Given the description of an element on the screen output the (x, y) to click on. 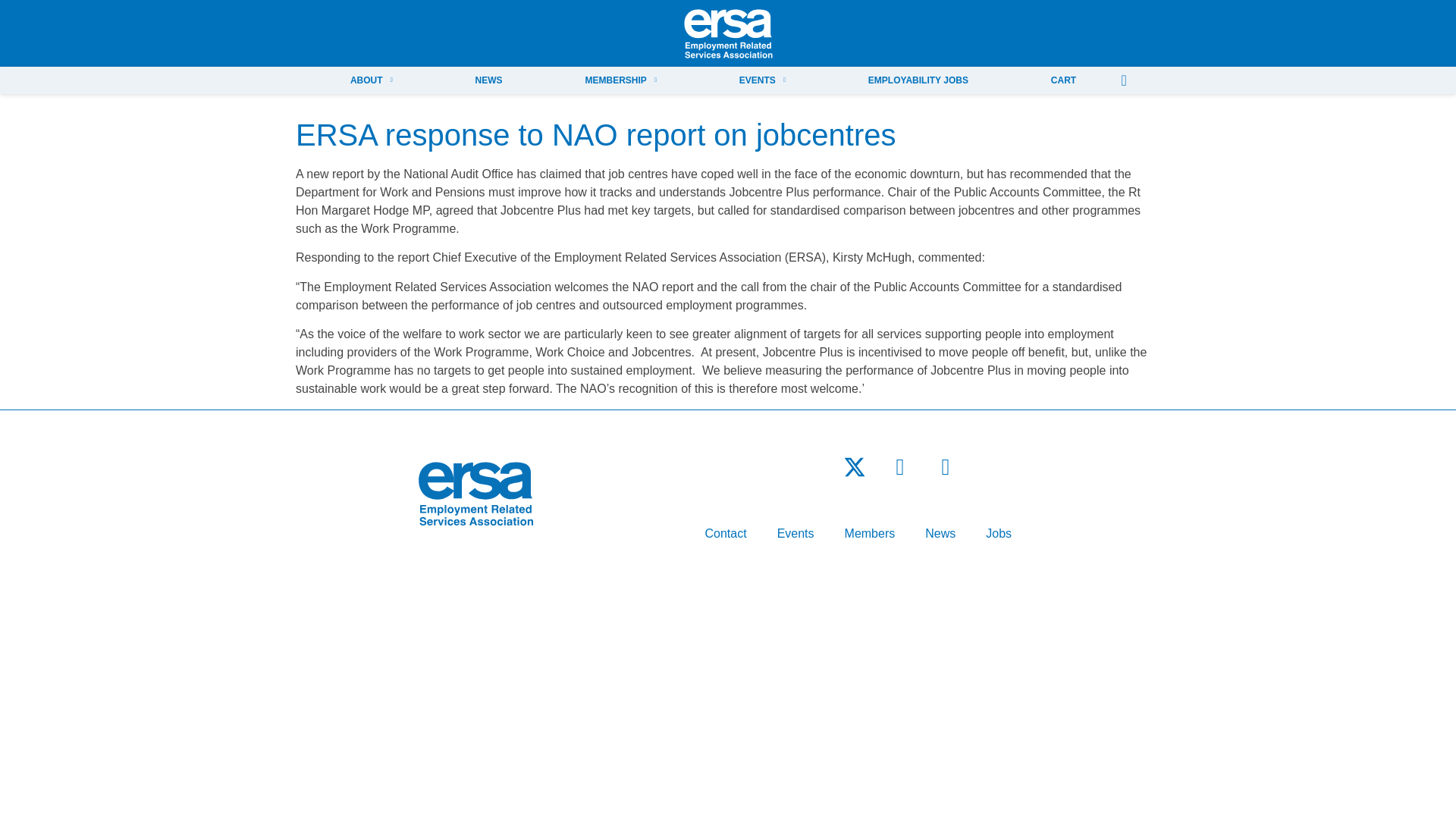
EMPLOYABILITY JOBS (917, 80)
MEMBERSHIP (620, 80)
NEWS (489, 80)
ABOUT (371, 80)
EVENTS (761, 80)
CART (1063, 80)
